Given the description of an element on the screen output the (x, y) to click on. 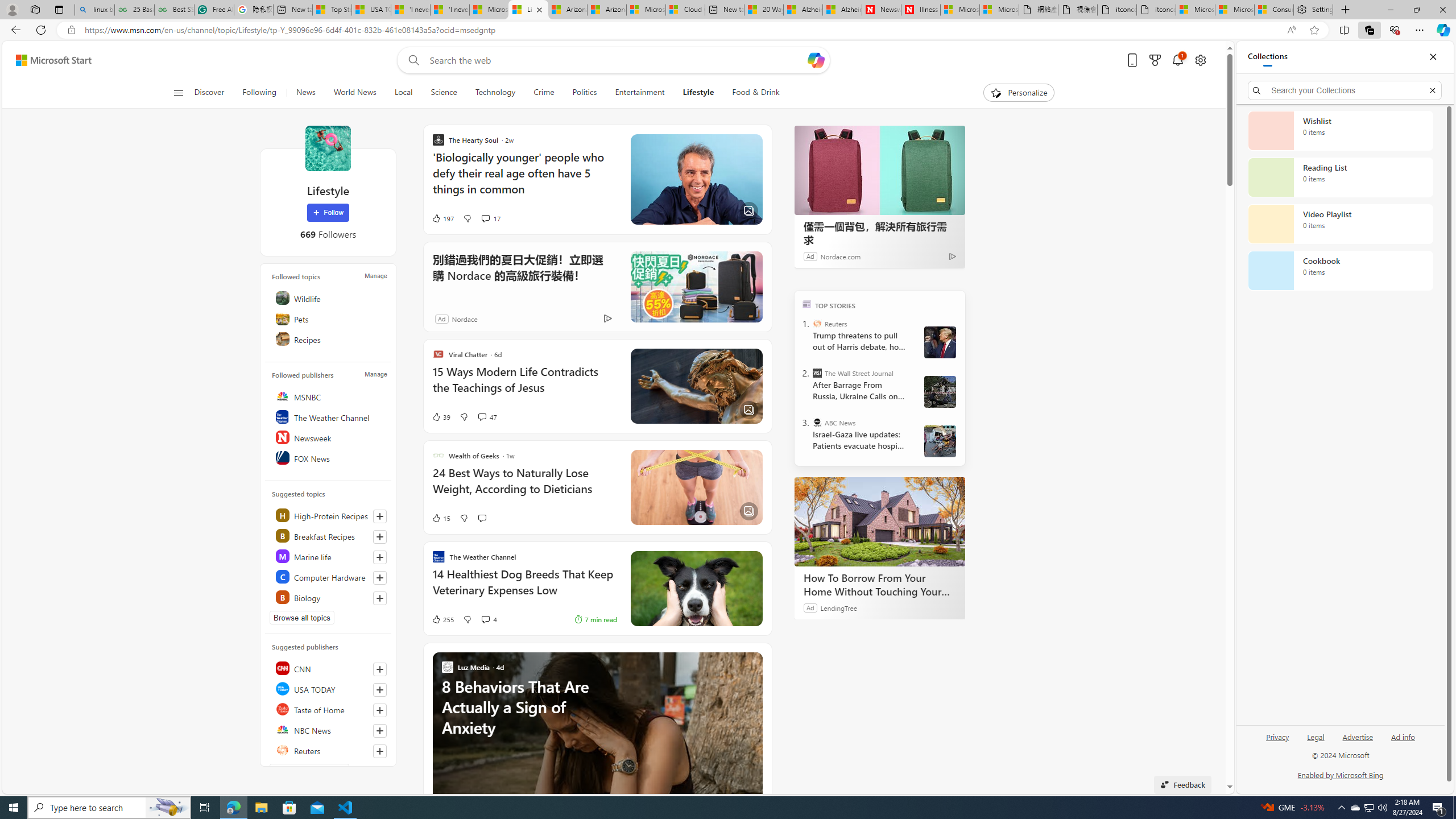
Open settings (1199, 60)
USA TODAY - MSN (371, 9)
TOP (806, 302)
Privacy (1277, 741)
linux basic - Search (94, 9)
Wildlife (328, 298)
Split screen (1344, 29)
Collections (1369, 29)
Collections (1267, 56)
View comments 47 Comment (481, 416)
Restore (1416, 9)
Food & Drink (751, 92)
Local (403, 92)
Politics (584, 92)
